Given the description of an element on the screen output the (x, y) to click on. 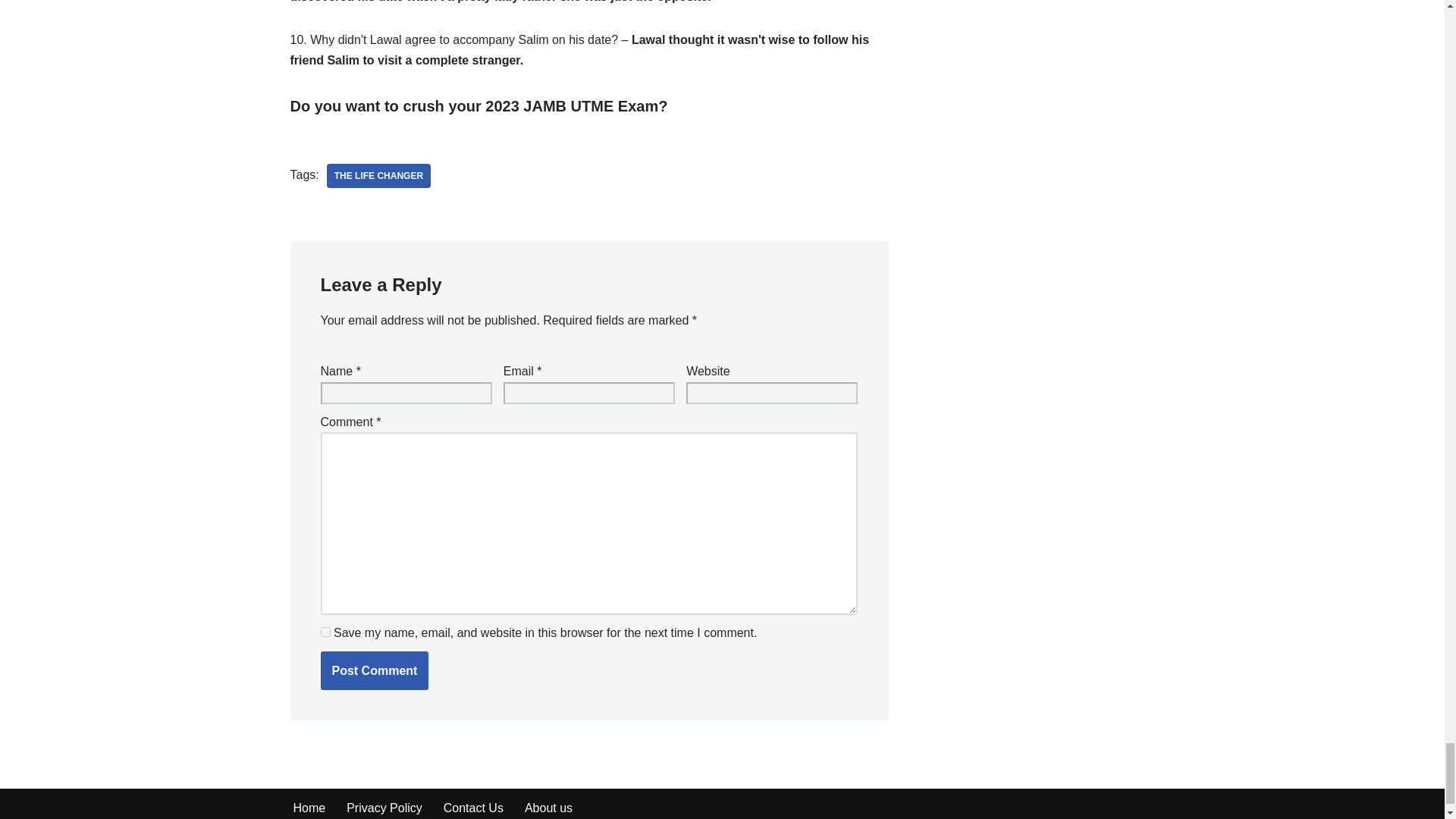
yes (325, 632)
The Life Changer (378, 175)
Post Comment (374, 671)
